Given the description of an element on the screen output the (x, y) to click on. 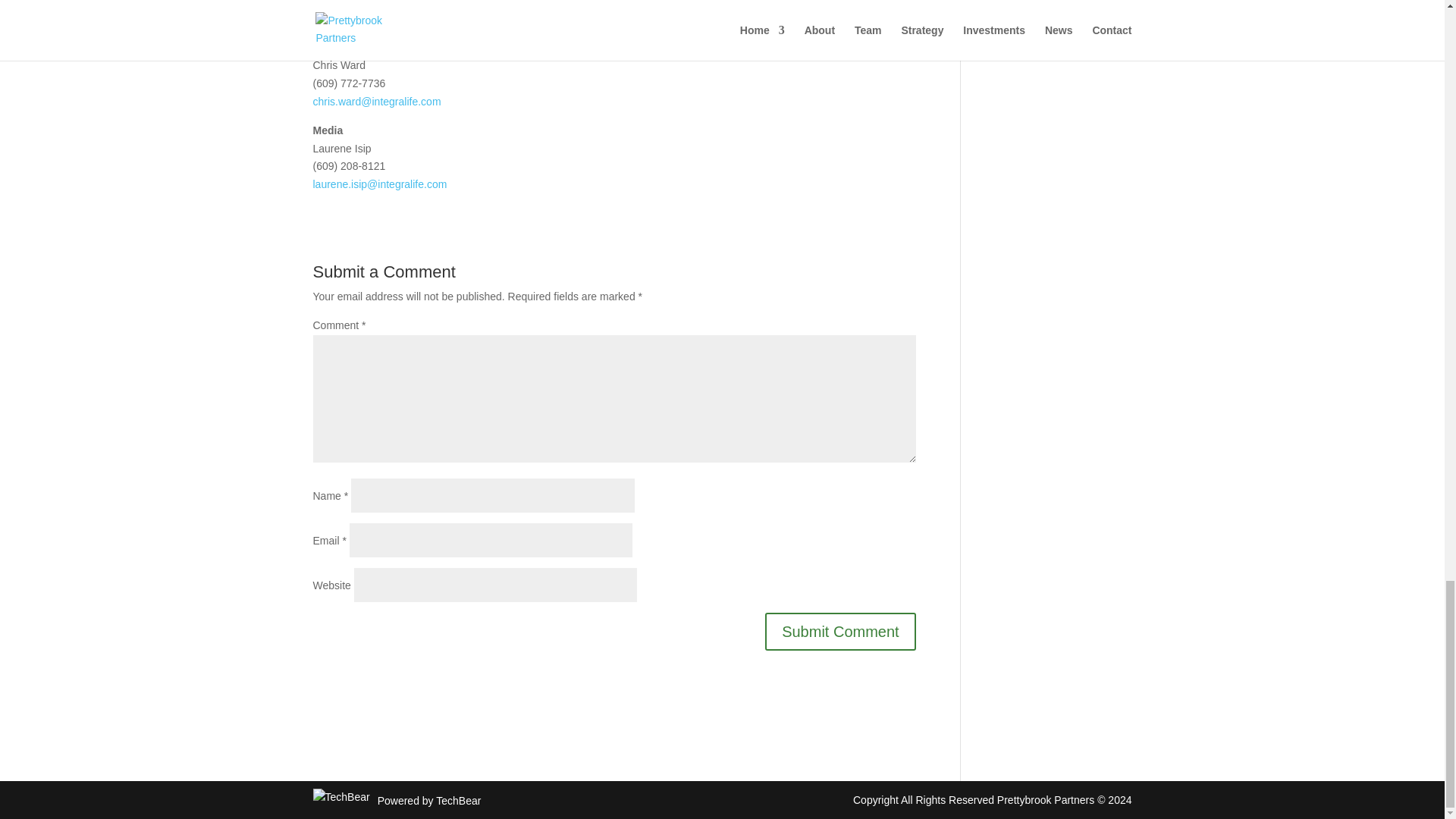
Powered by TechBear (429, 795)
Submit Comment (840, 631)
Submit Comment (840, 631)
